Given the description of an element on the screen output the (x, y) to click on. 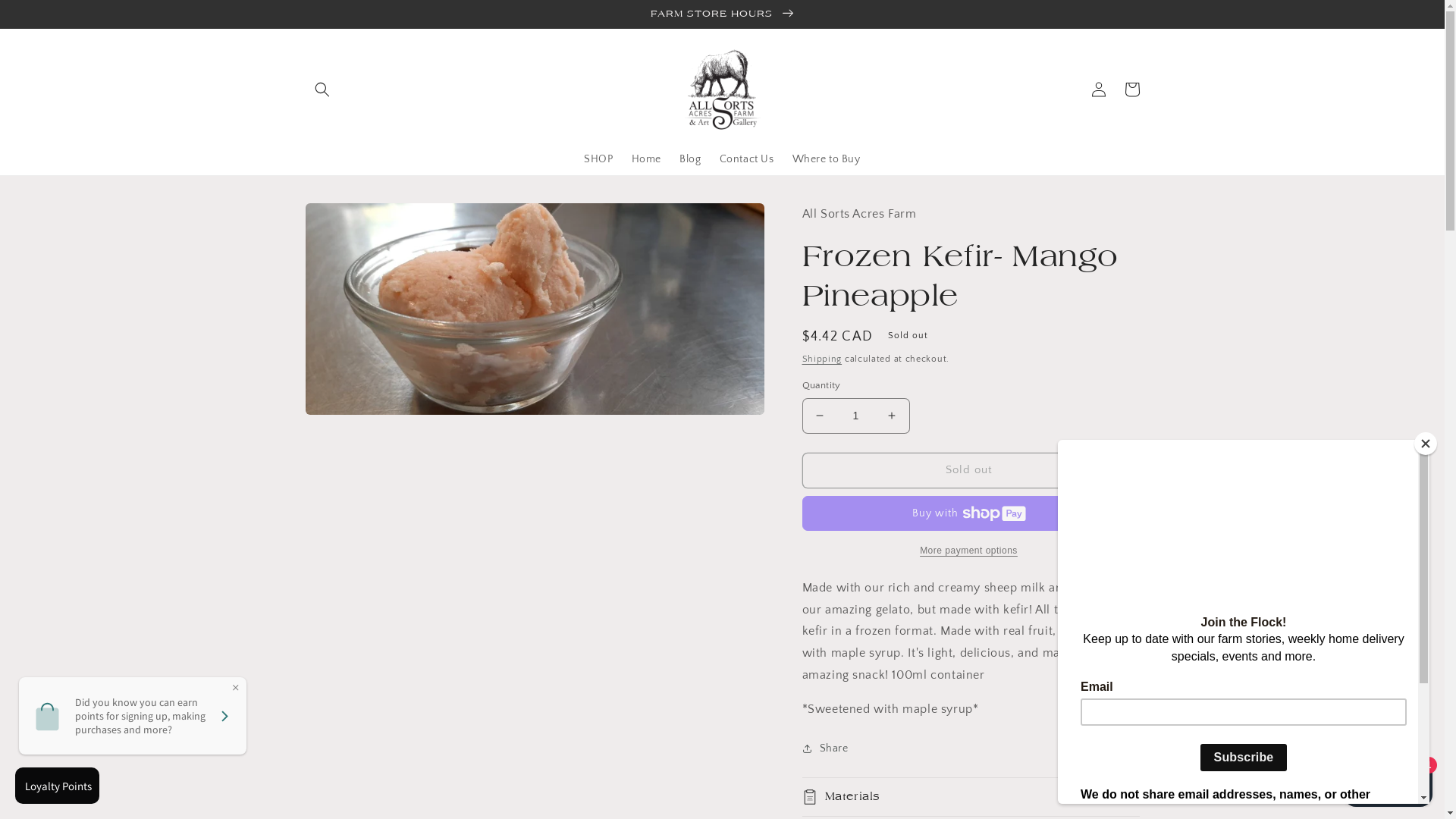
Decrease quantity for Frozen Kefir- Mango Pineapple Element type: text (819, 415)
Sold out Element type: text (968, 470)
Cart Element type: text (1131, 89)
Shipping Element type: text (822, 359)
Increase quantity for Frozen Kefir- Mango Pineapple Element type: text (892, 415)
FARM STORE HOURS Element type: text (722, 14)
SHOP Element type: text (597, 159)
Contact Us Element type: text (745, 159)
More payment options Element type: text (968, 550)
Skip to product information Element type: text (350, 220)
Where to Buy Element type: text (825, 159)
Log in Element type: text (1097, 89)
LoyaltyLion beacon Element type: hover (59, 785)
Blog Element type: text (689, 159)
Shopify online store chat Element type: hover (1388, 780)
Home Element type: text (646, 159)
